Given the description of an element on the screen output the (x, y) to click on. 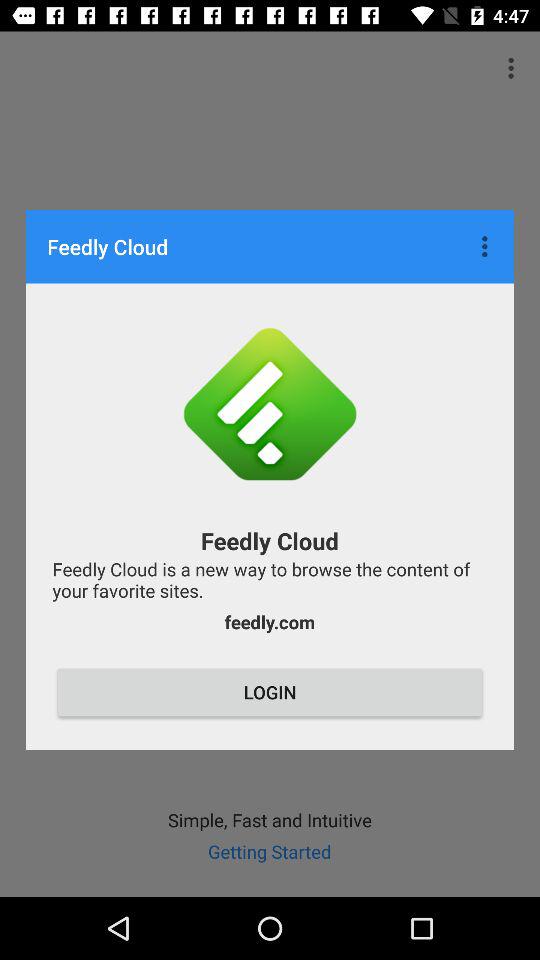
turn on icon above login item (269, 621)
